Given the description of an element on the screen output the (x, y) to click on. 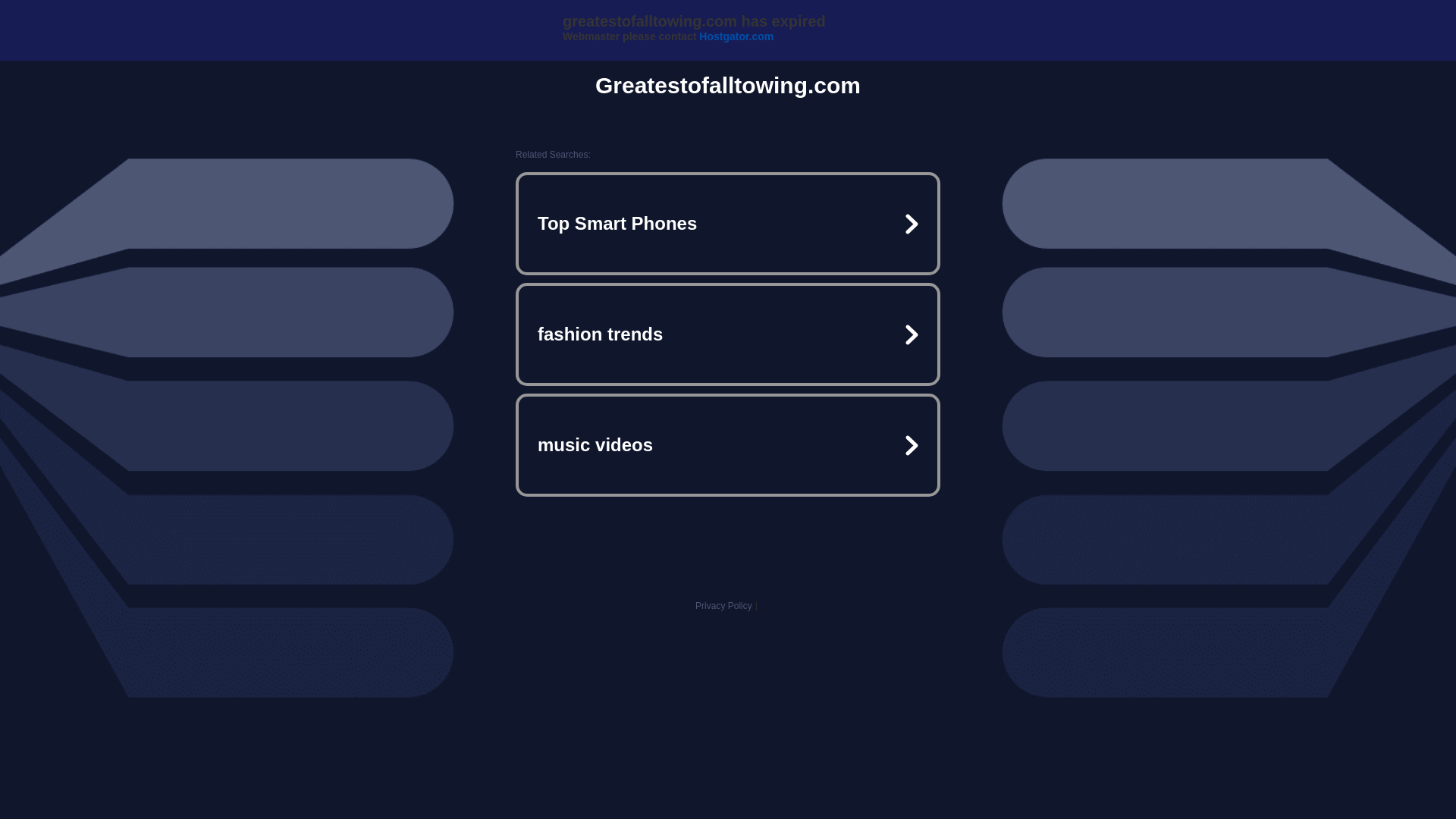
fashion trends (727, 334)
music videos (727, 444)
Hostgator.com (735, 36)
Privacy Policy (723, 605)
fashion trends (727, 334)
Top Smart Phones (727, 223)
Top Smart Phones (727, 223)
Greatestofalltowing.com (727, 85)
music videos (727, 444)
